Given the description of an element on the screen output the (x, y) to click on. 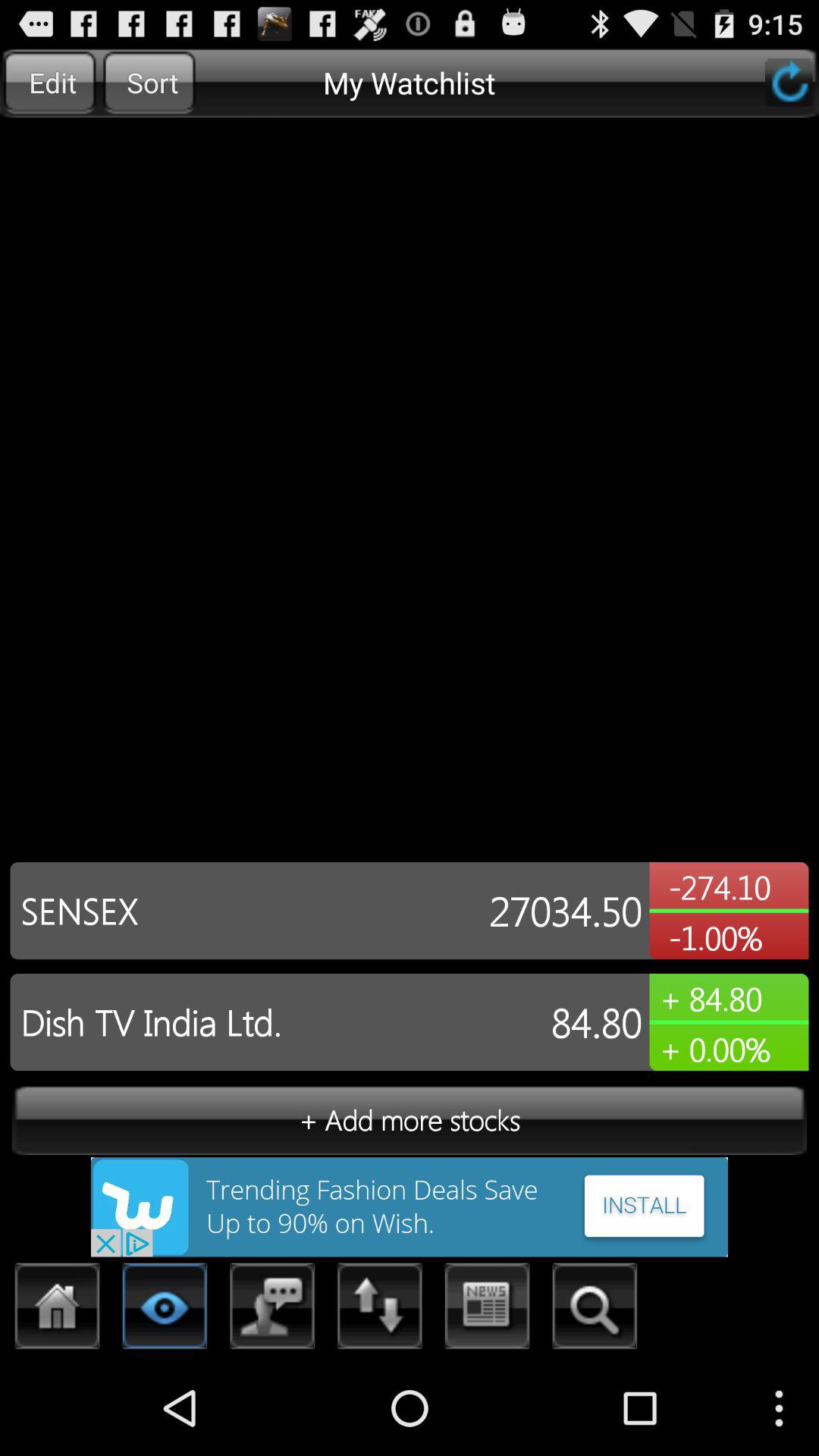
go to home (57, 1310)
